Given the description of an element on the screen output the (x, y) to click on. 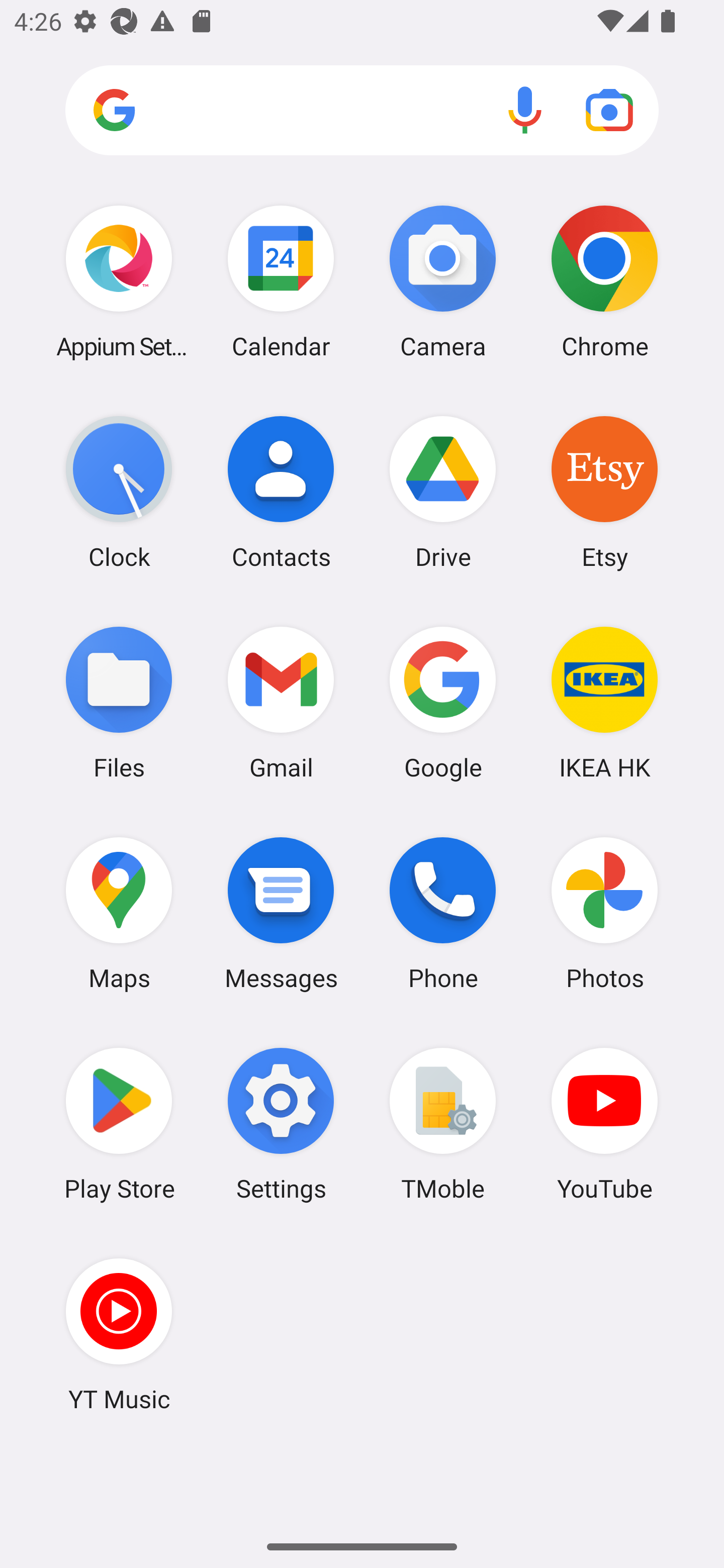
Search apps, web and more (361, 110)
Voice search (524, 109)
Google Lens (608, 109)
Appium Settings (118, 281)
Calendar (280, 281)
Camera (443, 281)
Chrome (604, 281)
Clock (118, 492)
Contacts (280, 492)
Drive (443, 492)
Etsy (604, 492)
Files (118, 702)
Gmail (280, 702)
Google (443, 702)
IKEA HK (604, 702)
Maps (118, 913)
Messages (280, 913)
Phone (443, 913)
Photos (604, 913)
Play Store (118, 1124)
Settings (280, 1124)
TMoble (443, 1124)
YouTube (604, 1124)
YT Music (118, 1334)
